Given the description of an element on the screen output the (x, y) to click on. 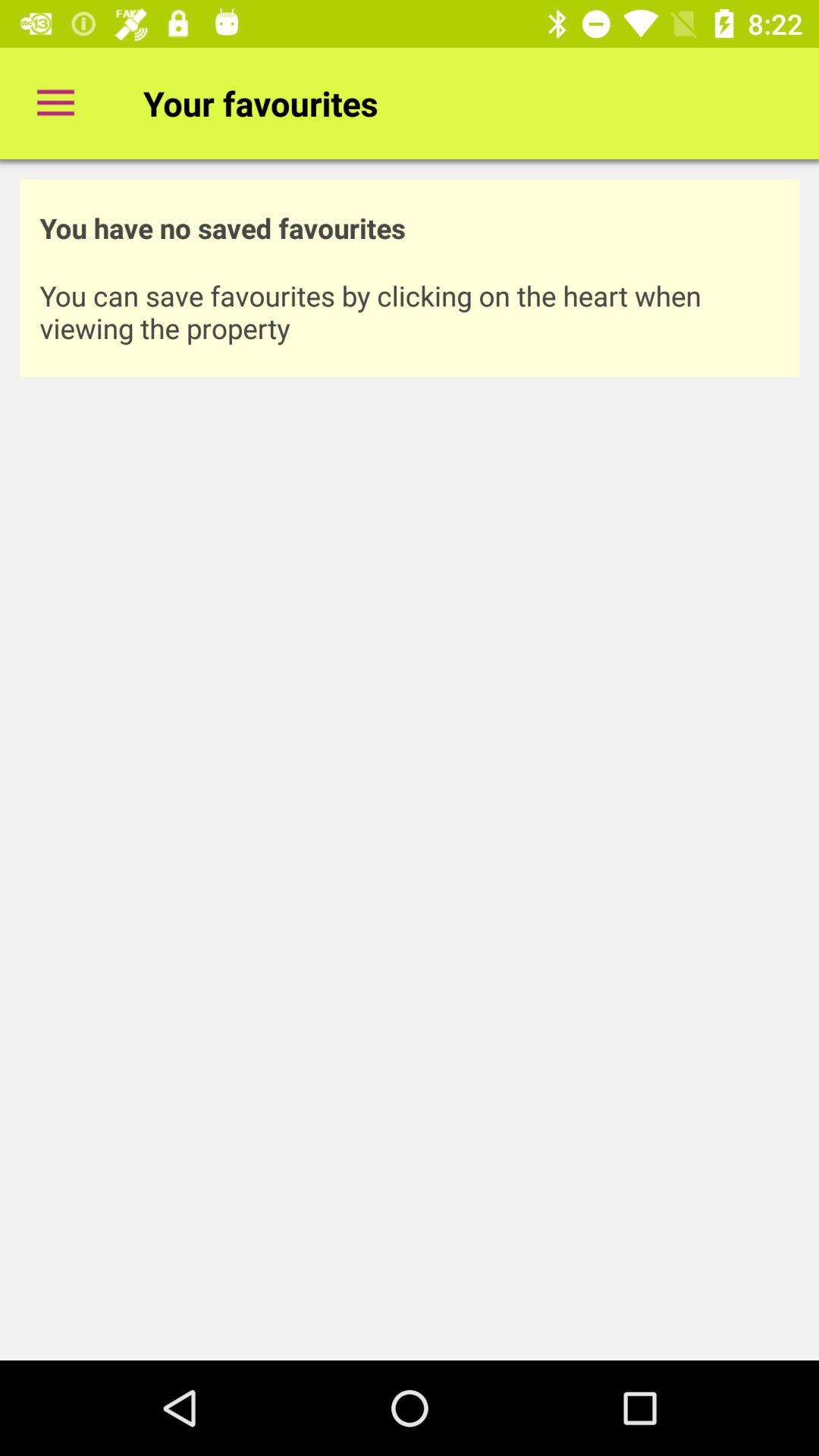
choose icon to the left of your favourites item (55, 103)
